Given the description of an element on the screen output the (x, y) to click on. 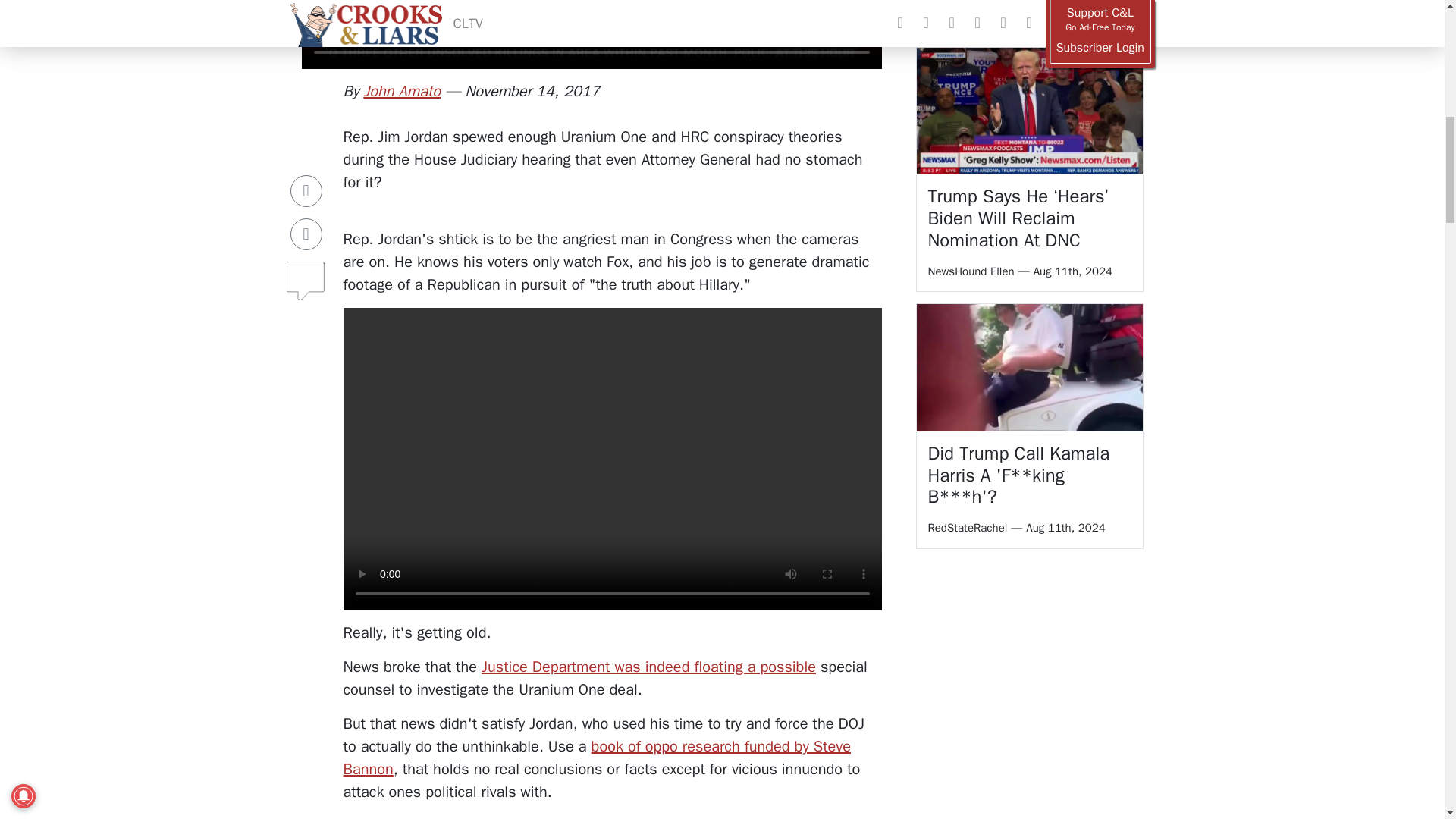
book of oppo research funded by Steve Bannon (596, 757)
John Amato (401, 90)
Share on Facebook (306, 119)
John Amato (401, 90)
Share on Twitter (306, 162)
Comments (306, 202)
Justice Department was indeed floating a possible (648, 666)
